Given the description of an element on the screen output the (x, y) to click on. 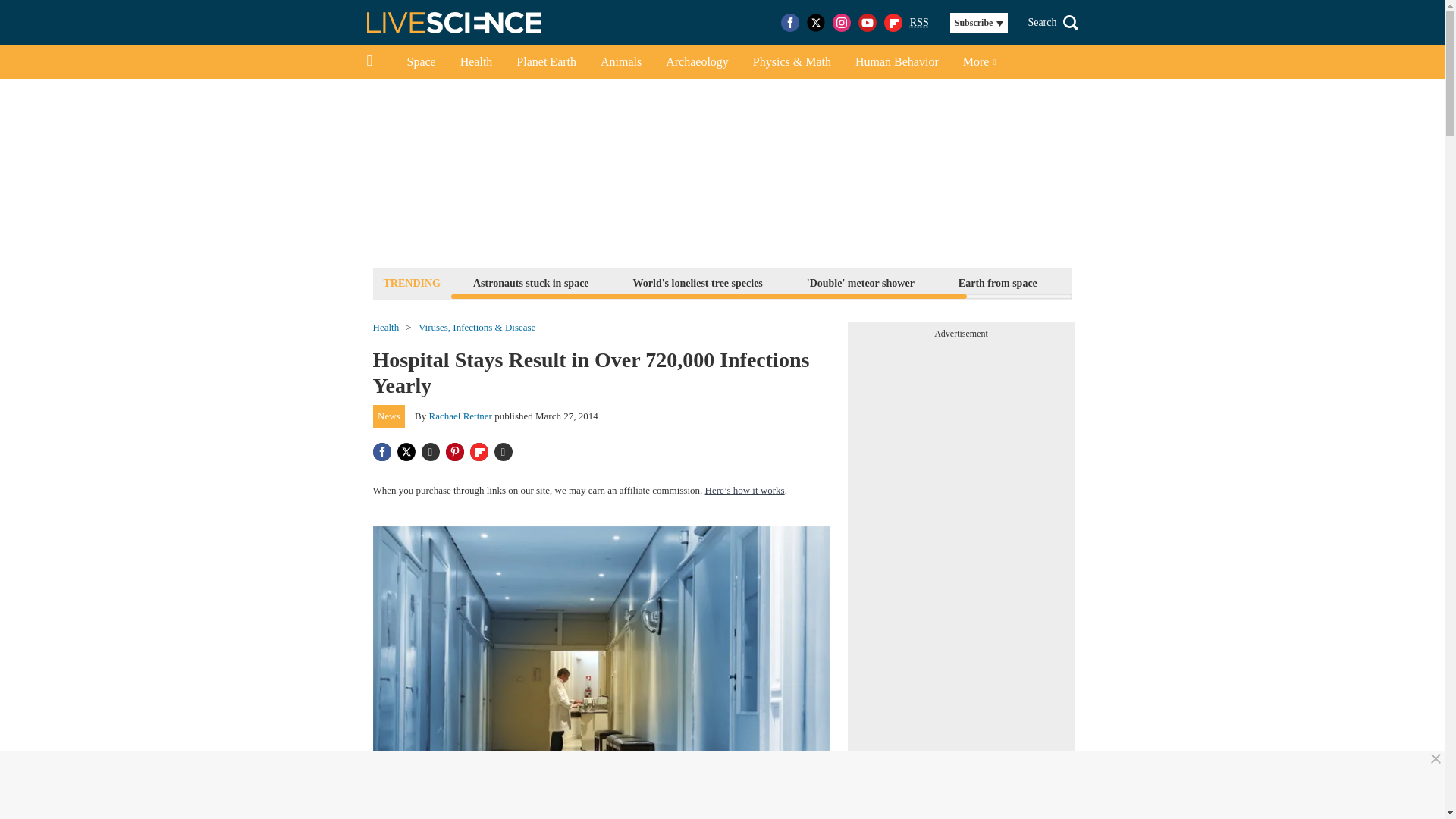
Astronauts stuck in space (530, 282)
News (389, 415)
Space (420, 61)
RSS (919, 22)
Health (476, 61)
Animals (620, 61)
'Double' meteor shower (861, 282)
Rachael Rettner (460, 415)
Really Simple Syndication (919, 21)
World's loneliest tree species (697, 282)
Earth from space (997, 282)
Human Behavior (896, 61)
